Given the description of an element on the screen output the (x, y) to click on. 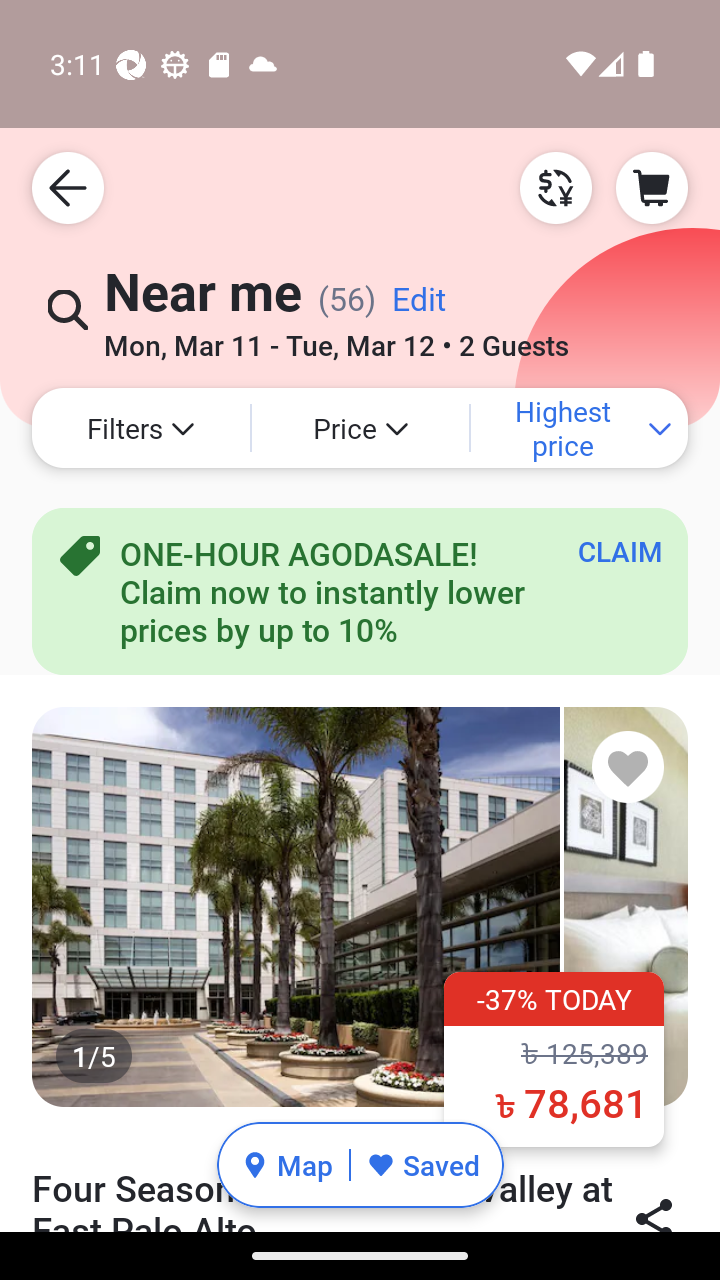
Mon, Mar 11 - Tue, Mar 12 • 2 Guests (336, 338)
Filters (140, 428)
Price (359, 428)
Highest price (579, 428)
CLAIM (620, 551)
1/5 (359, 906)
-37% TODAY ‪৳ 125,389 ‪৳ 78,681 (553, 1058)
Map Saved (359, 1165)
